Given the description of an element on the screen output the (x, y) to click on. 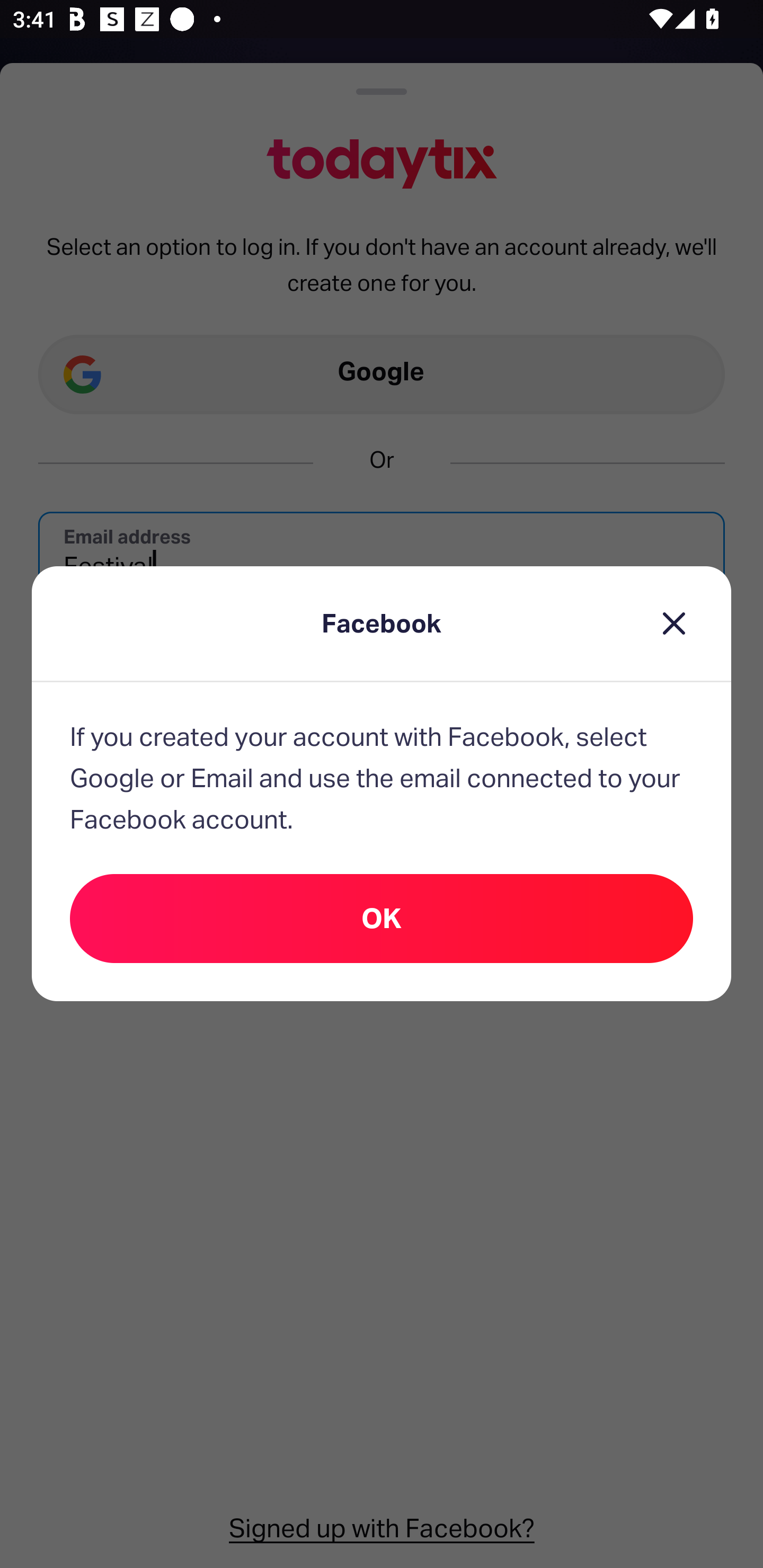
OK (381, 917)
